Given the description of an element on the screen output the (x, y) to click on. 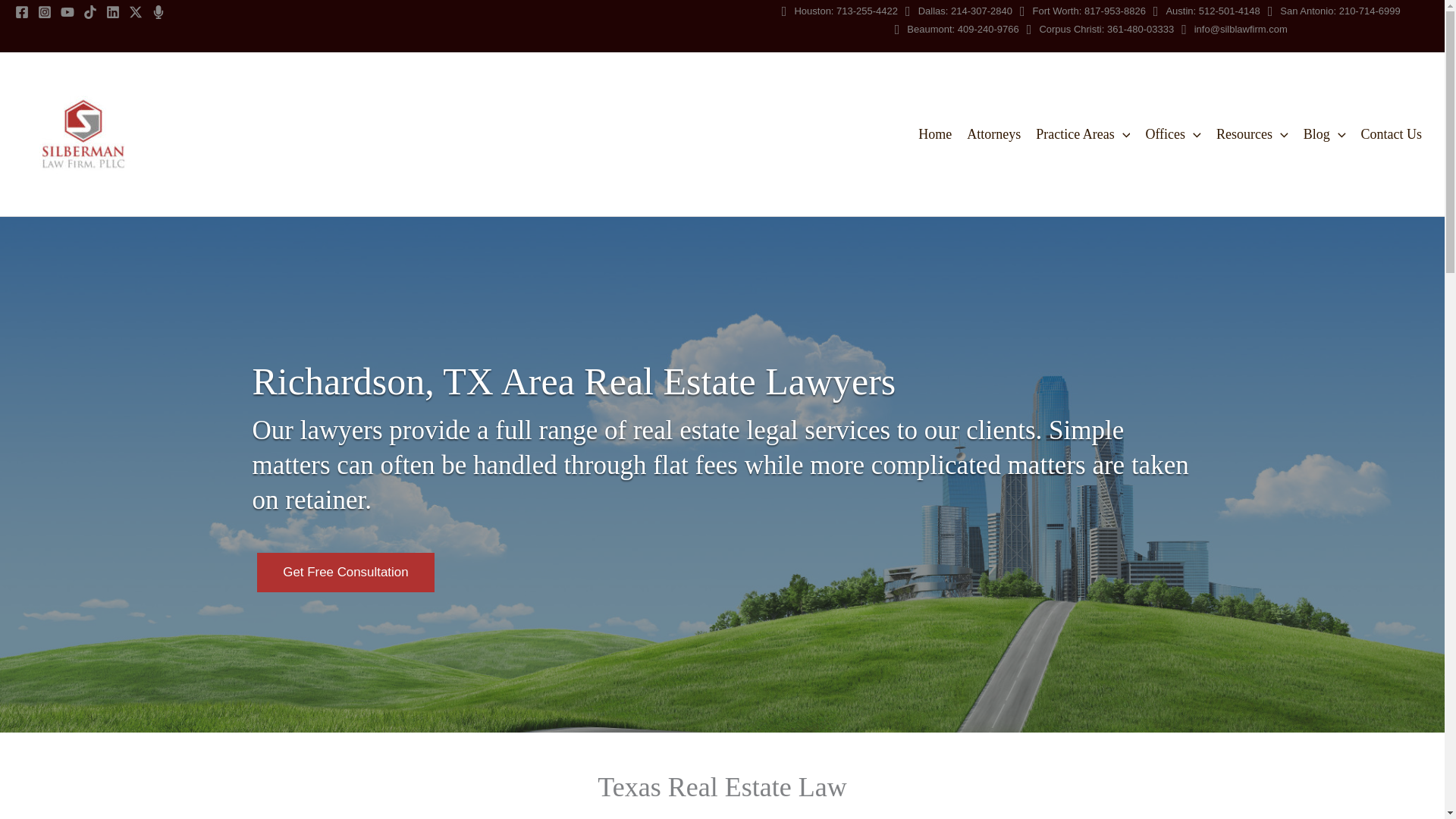
San Antonio: 210-714-6999 (1334, 11)
Fort Worth: 817-953-8826 (1082, 11)
Offices (1172, 133)
Houston: 713-255-4422 (839, 11)
Corpus Christi: 361-480-03333 (1099, 29)
Beaumont: 409-240-9766 (957, 29)
Resources (1251, 133)
Austin: 512-501-4148 (1206, 11)
Practice Areas (1082, 133)
Home (935, 133)
Dallas: 214-307-2840 (958, 11)
Attorneys (993, 133)
